Given the description of an element on the screen output the (x, y) to click on. 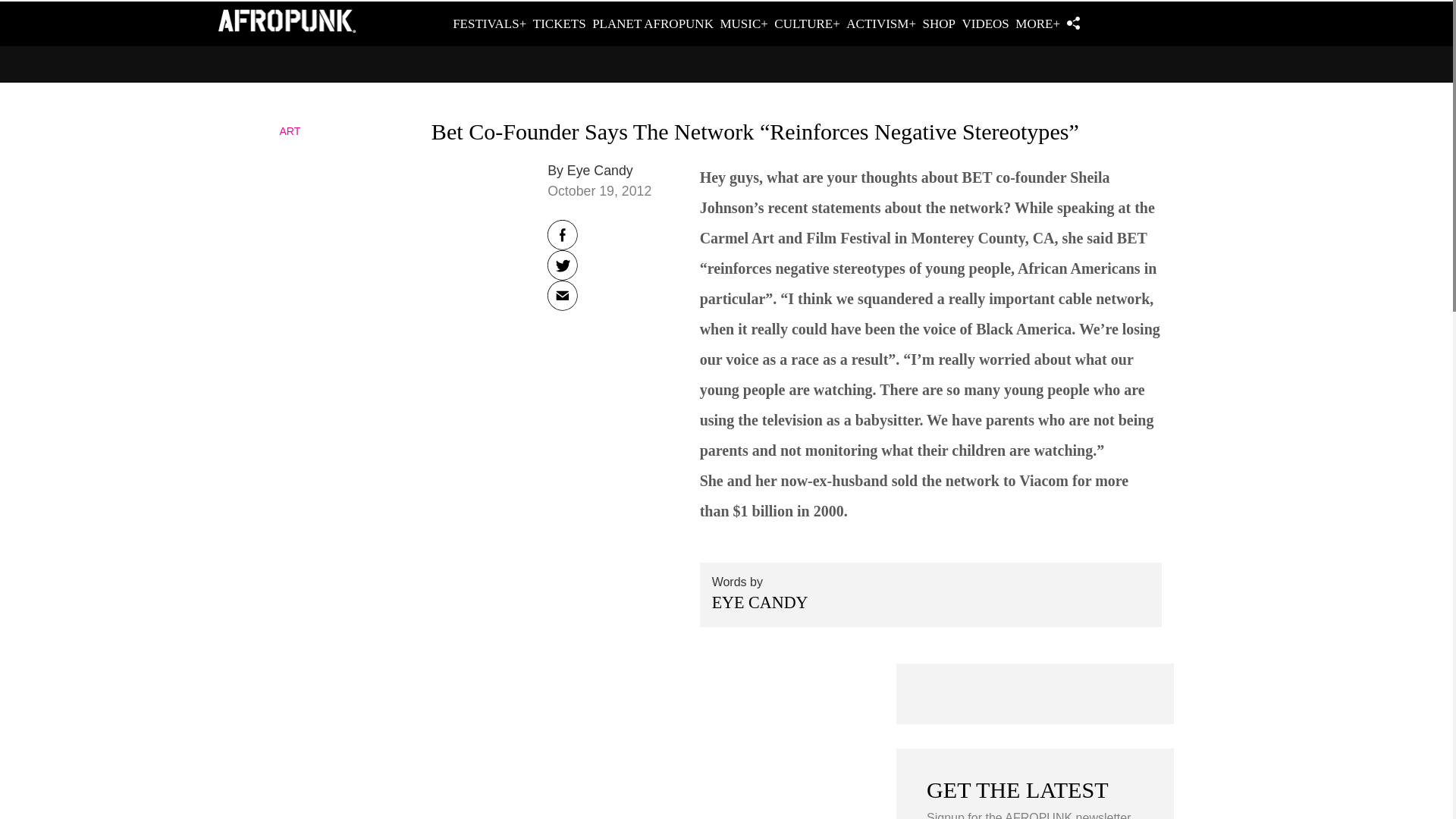
SHOP (939, 24)
TICKETS (559, 24)
PLANET AFROPUNK (652, 24)
MUSIC (743, 24)
MORE (1036, 24)
FESTIVALS (488, 24)
VIDEOS (984, 24)
CULTURE (807, 24)
ACTIVISM (880, 24)
